Given the description of an element on the screen output the (x, y) to click on. 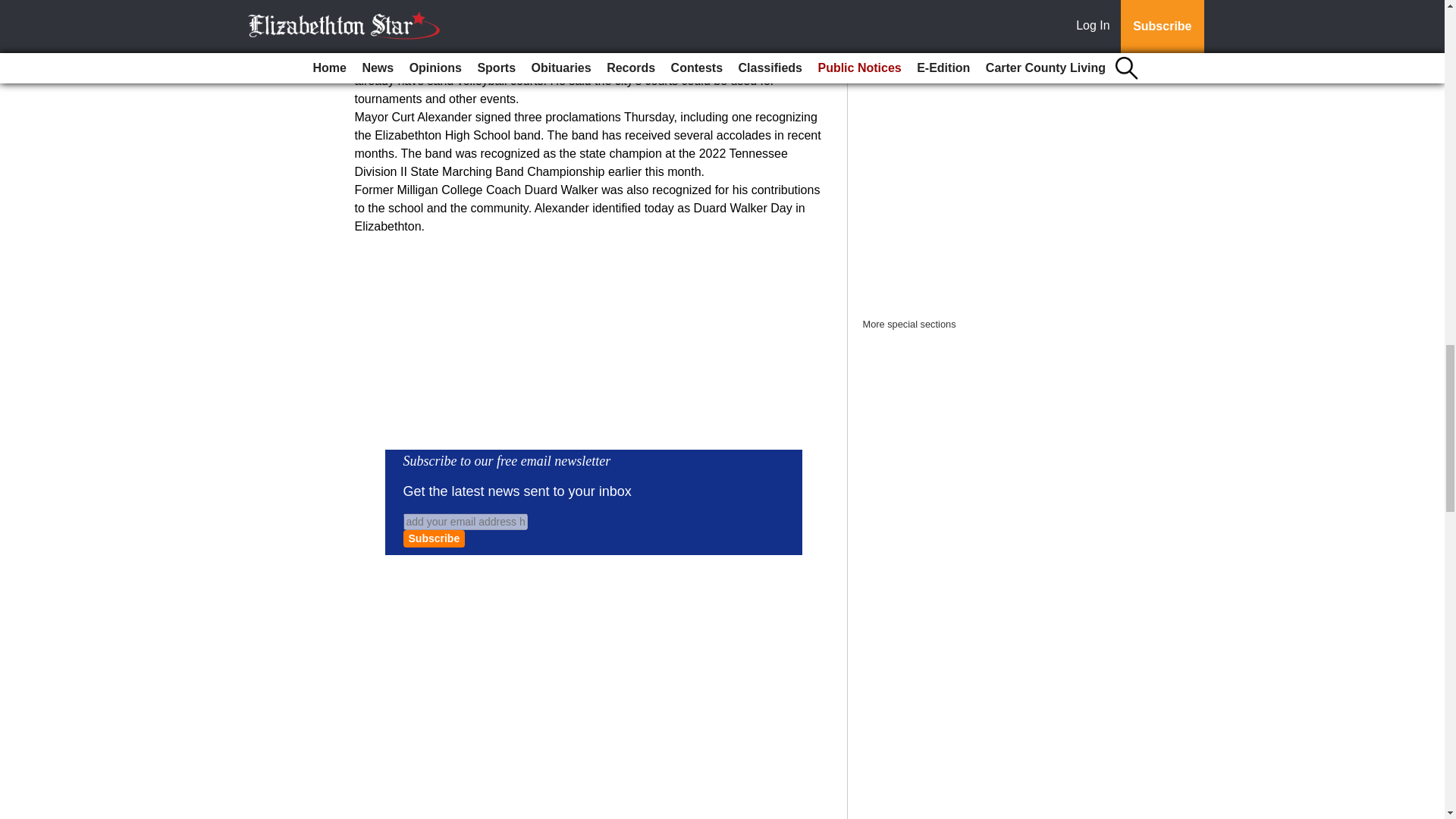
More special sections (909, 324)
Subscribe (434, 538)
Subscribe (434, 538)
